Given the description of an element on the screen output the (x, y) to click on. 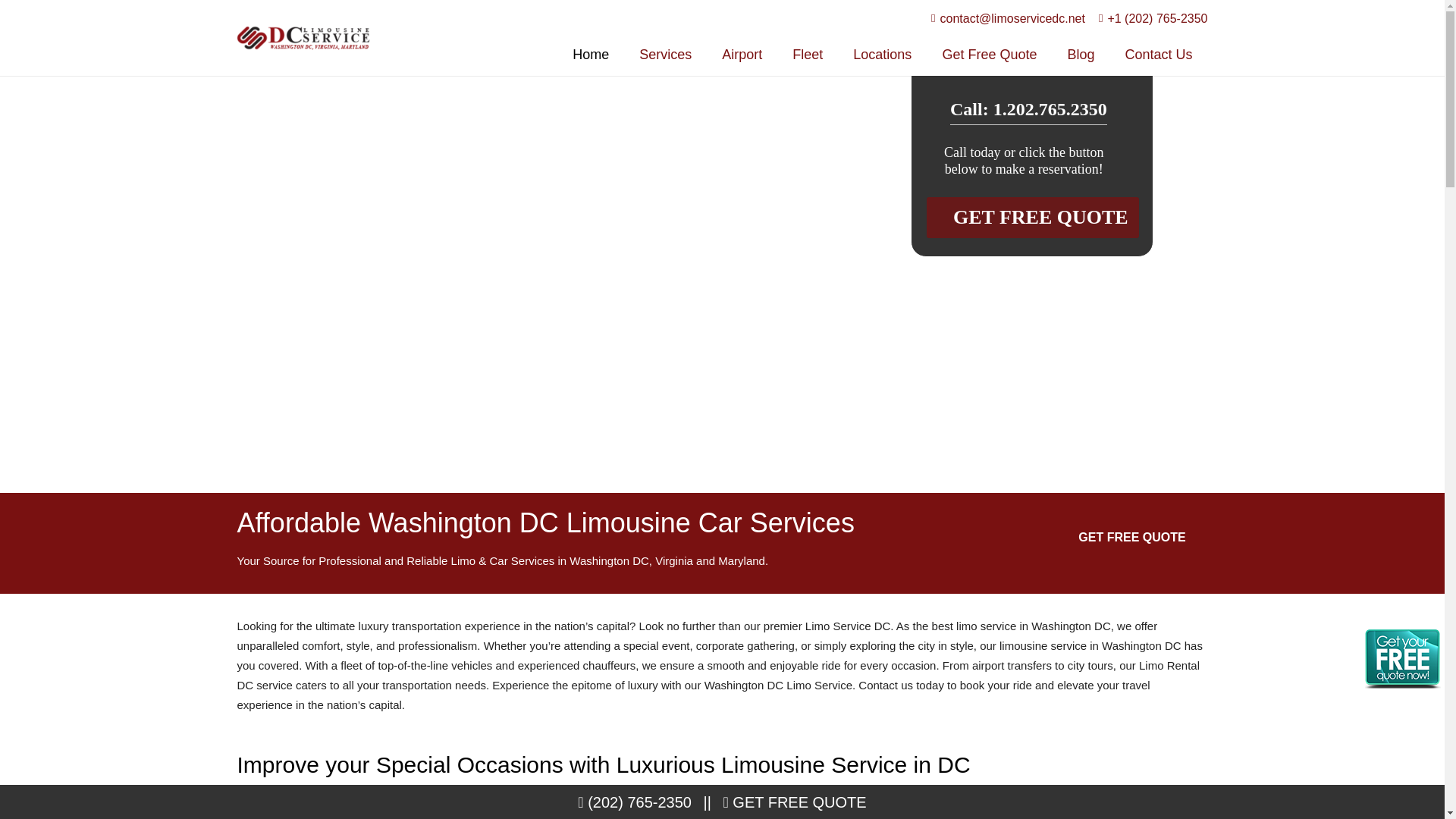
Fleet (807, 54)
Services (665, 54)
Airport (741, 54)
Locations (882, 54)
Home (590, 54)
